Given the description of an element on the screen output the (x, y) to click on. 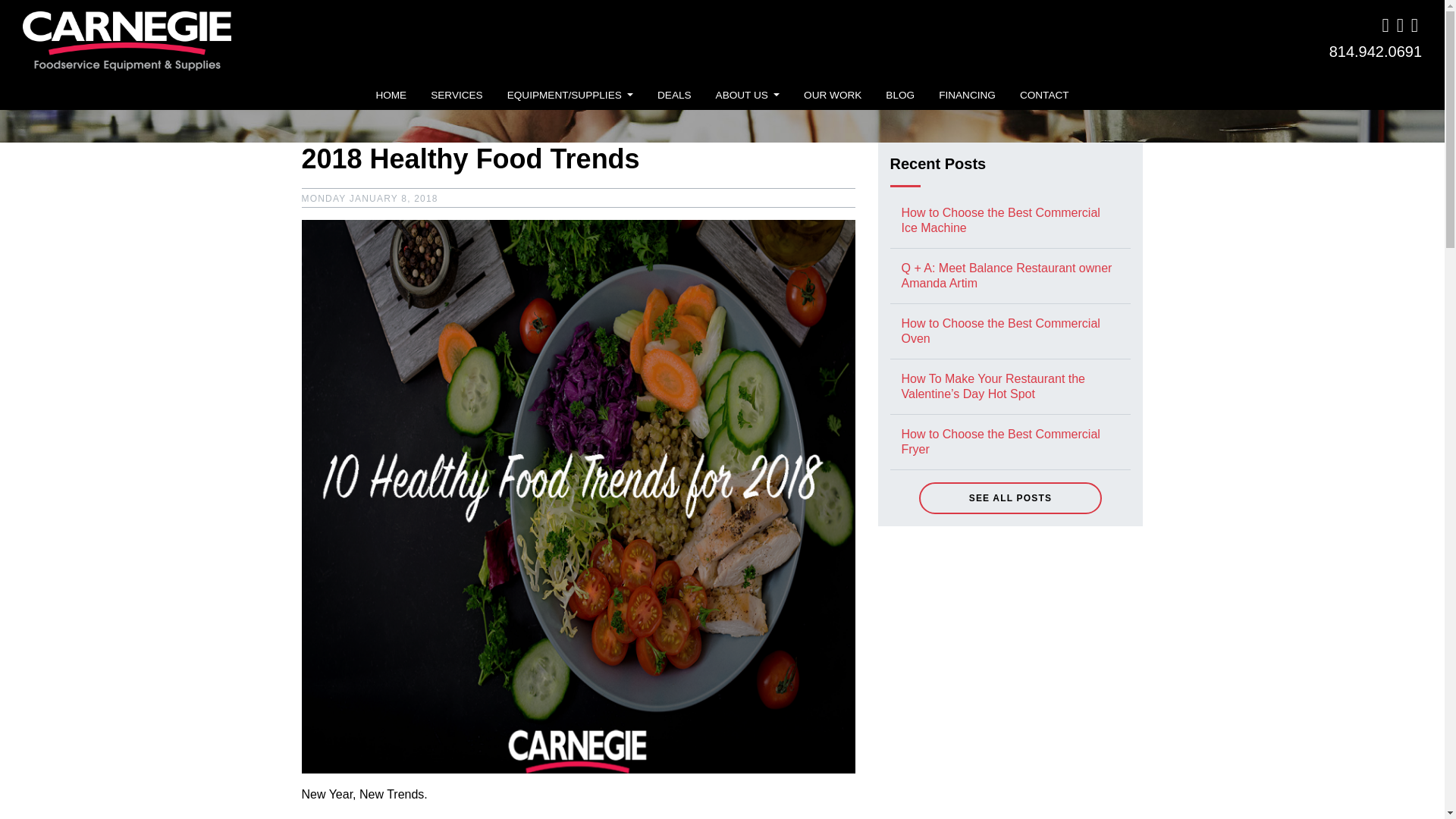
SEE ALL POSTS (1010, 498)
OUR WORK (832, 94)
CONTACT (1044, 94)
How to Choose the Best Commercial Fryer (1000, 441)
FINANCING (967, 94)
ABOUT US (748, 94)
How to Choose the Best Commercial Ice Machine (1000, 220)
Home (390, 94)
Services (457, 94)
How to Choose the Best Commercial Oven (1000, 330)
Our Work (832, 94)
DEALS (673, 94)
SERVICES (457, 94)
HOME (390, 94)
Deals (673, 94)
